Given the description of an element on the screen output the (x, y) to click on. 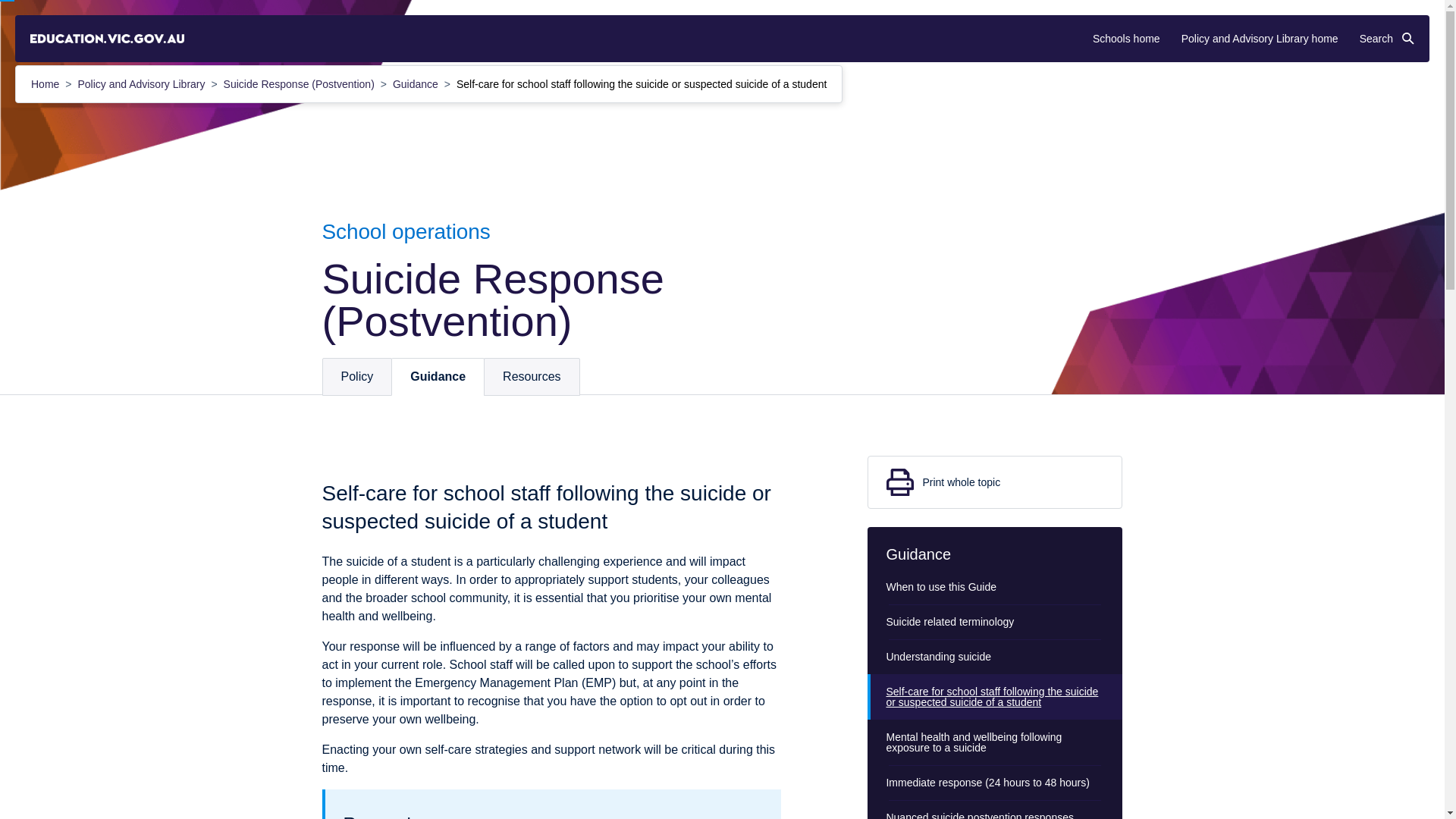
Home (46, 83)
Policy and Advisory Library home (1259, 38)
Guidance (417, 83)
Guidance (437, 376)
Mental health and wellbeing following exposure to a suicide (994, 741)
Policy (357, 376)
Search (1386, 38)
Resources (531, 376)
When to use this Guide (994, 586)
Suicide related terminology (994, 621)
Understanding suicide (994, 656)
Schools home (1126, 38)
Policy and Advisory Library (142, 83)
Print whole topic (994, 482)
